Given the description of an element on the screen output the (x, y) to click on. 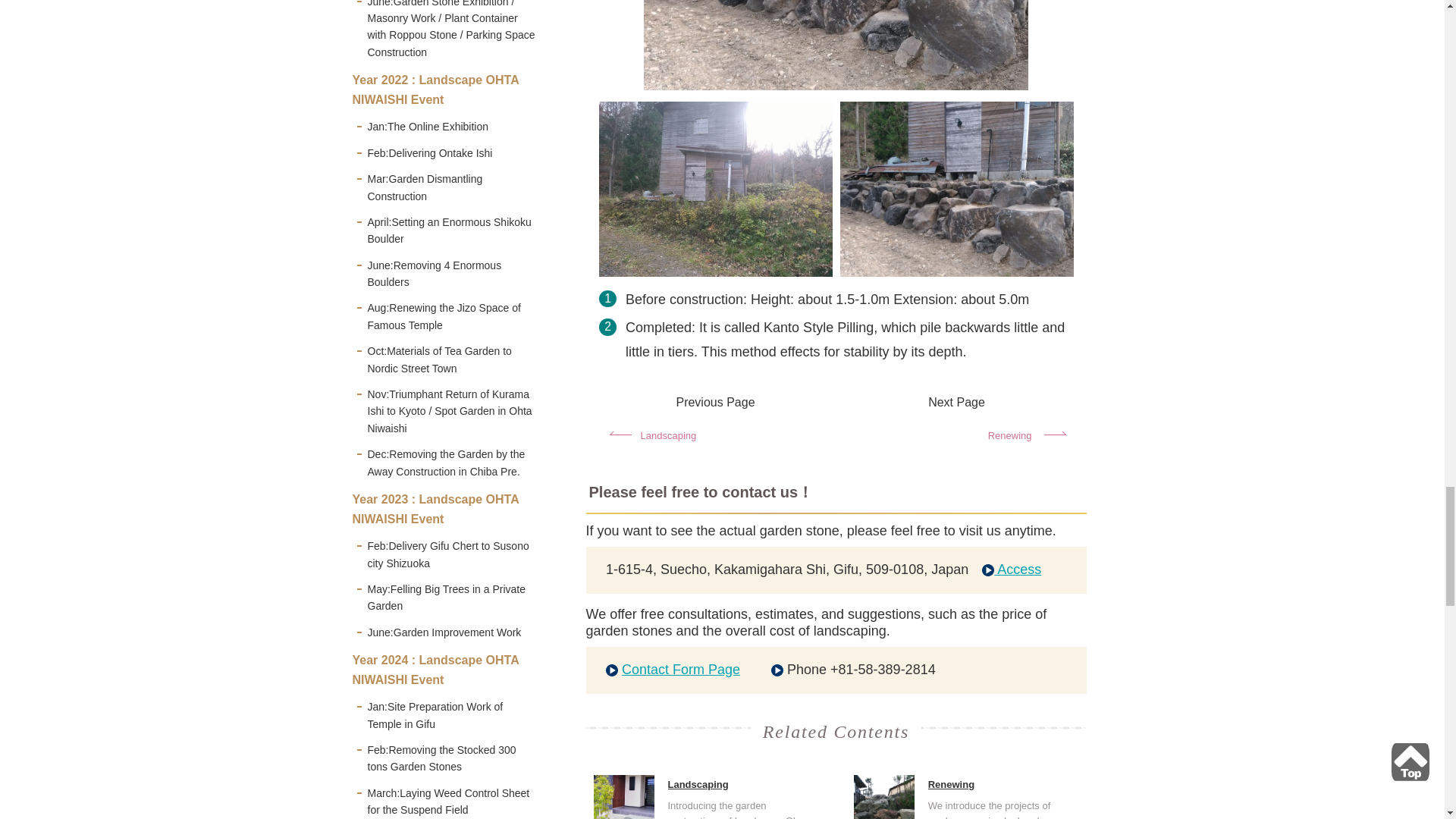
Renewing (954, 438)
Contact Form Page (680, 669)
Landscaping (697, 784)
Renewing (951, 784)
Access (1011, 569)
Landscaping (717, 438)
